Given the description of an element on the screen output the (x, y) to click on. 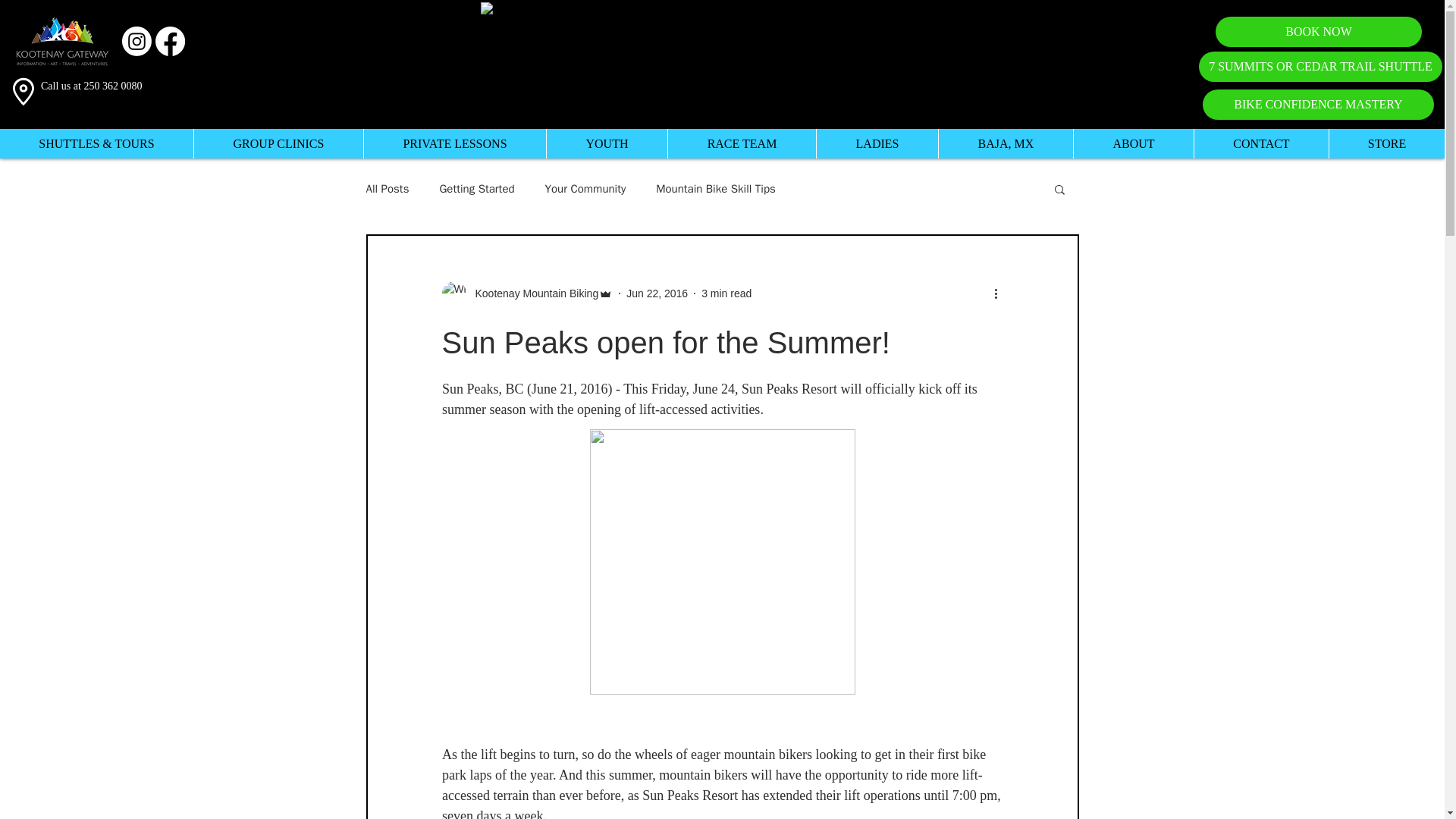
YOUTH (606, 143)
Kootenay Mountain Biking (531, 293)
RACE TEAM (740, 143)
Jun 22, 2016 (656, 292)
BOOK NOW (1318, 31)
7 SUMMITS OR CEDAR TRAIL SHUTTLE (1320, 66)
3 min read (726, 292)
Call us at 250 362 0080 (90, 85)
GROUP CLINICS (277, 143)
PRIVATE LESSONS (454, 143)
BIKE CONFIDENCE MASTERY (1318, 104)
